Given the description of an element on the screen output the (x, y) to click on. 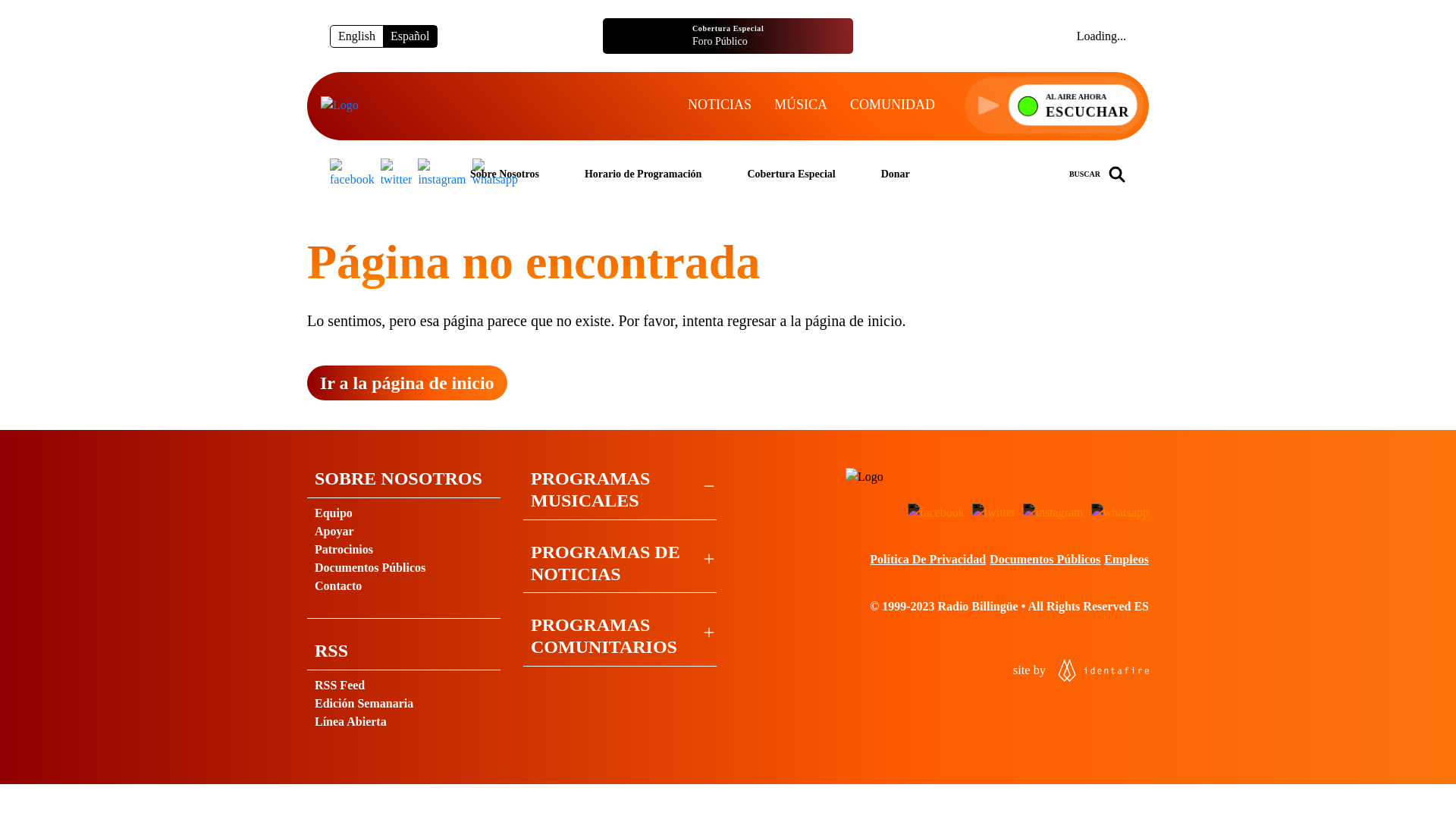
Sobre Nosotros (504, 173)
NOTICIAS (719, 104)
COMUNIDAD (1051, 103)
English (1079, 670)
